Given the description of an element on the screen output the (x, y) to click on. 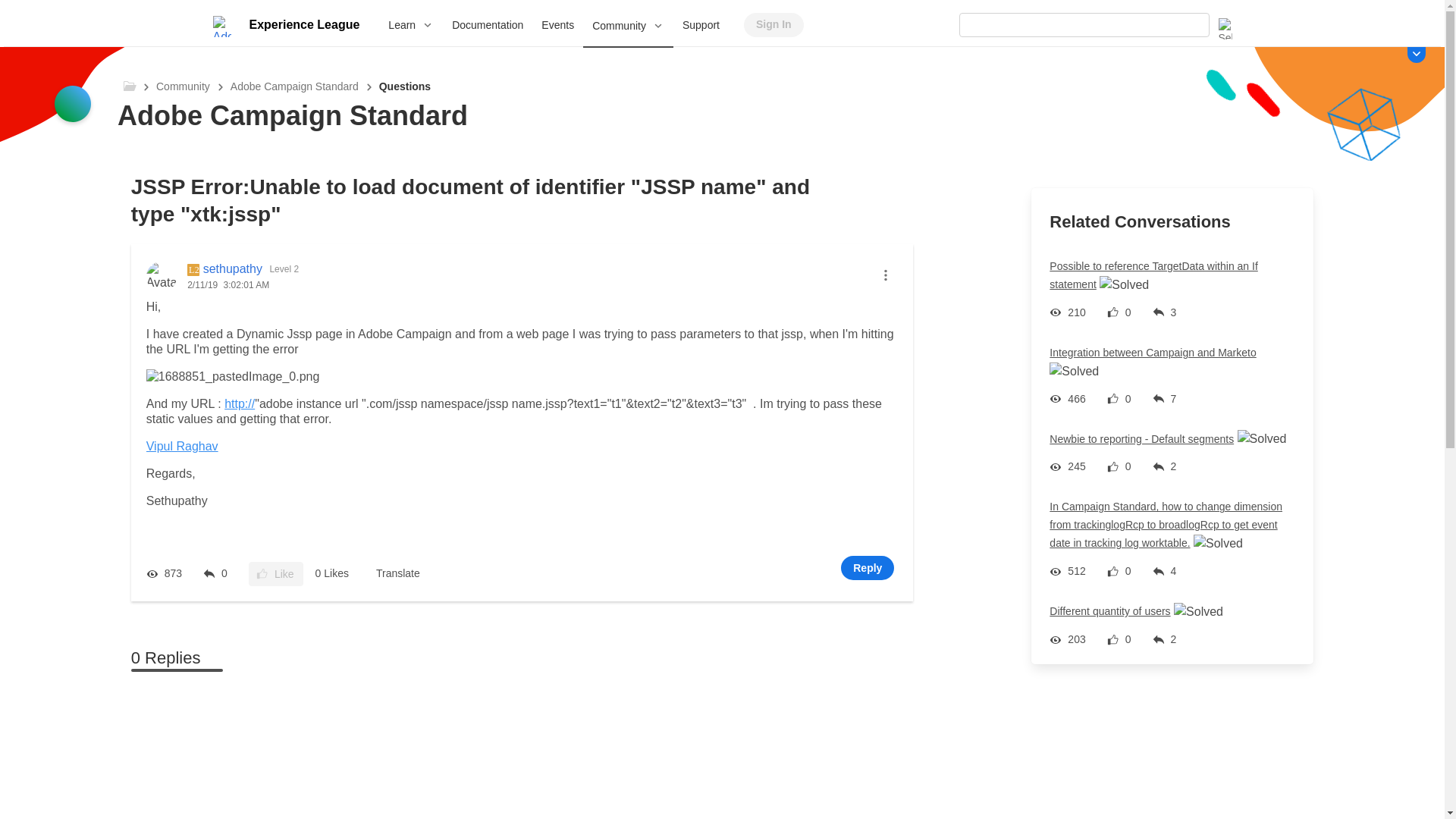
Community (627, 25)
Documentation (487, 24)
Events (557, 24)
Learn (410, 24)
Experience League (304, 24)
Experience League (304, 24)
Learn (410, 24)
